Given the description of an element on the screen output the (x, y) to click on. 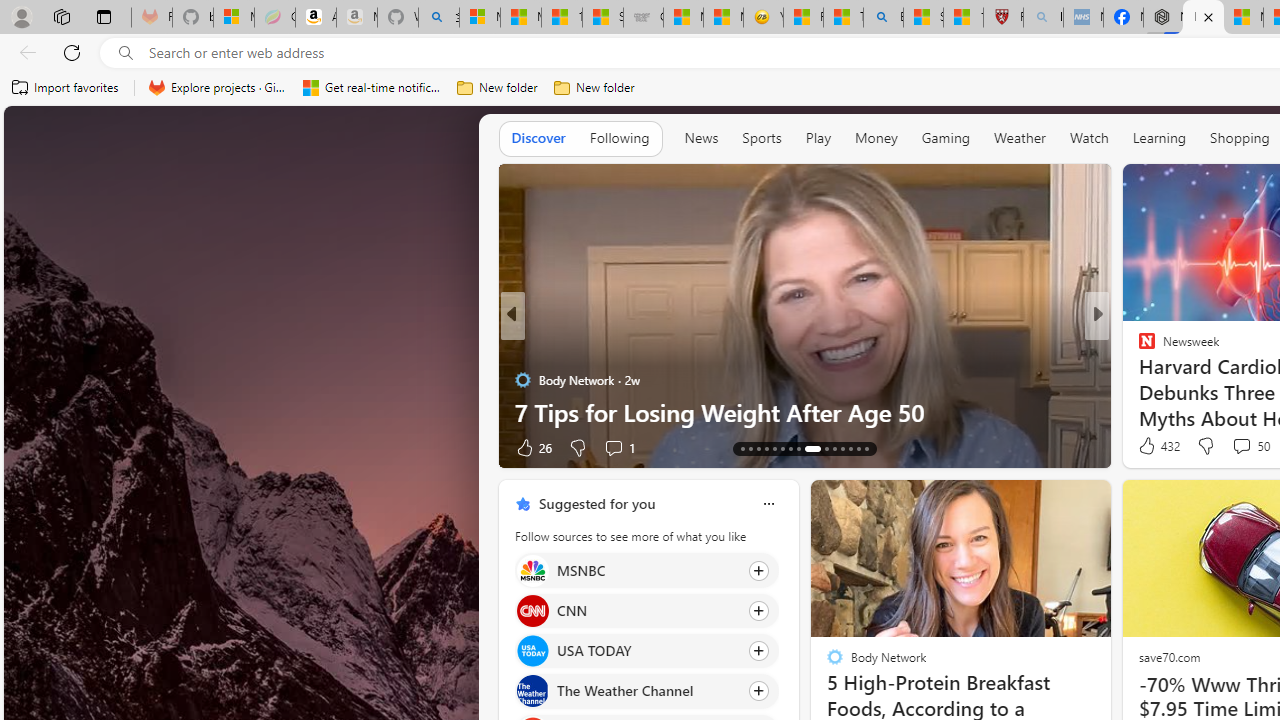
USA TODAY (532, 651)
Microsoft-Report a Concern to Bing (233, 17)
AutomationID: tab-66 (742, 448)
Click to follow source USA TODAY (646, 651)
Bored Panda (1138, 380)
Recipes - MSN (803, 17)
New folder (594, 88)
Start the conversation (1222, 447)
Play (818, 138)
Class: icon-img (768, 503)
AutomationID: tab-74 (812, 448)
Dislike (1204, 446)
